Given the description of an element on the screen output the (x, y) to click on. 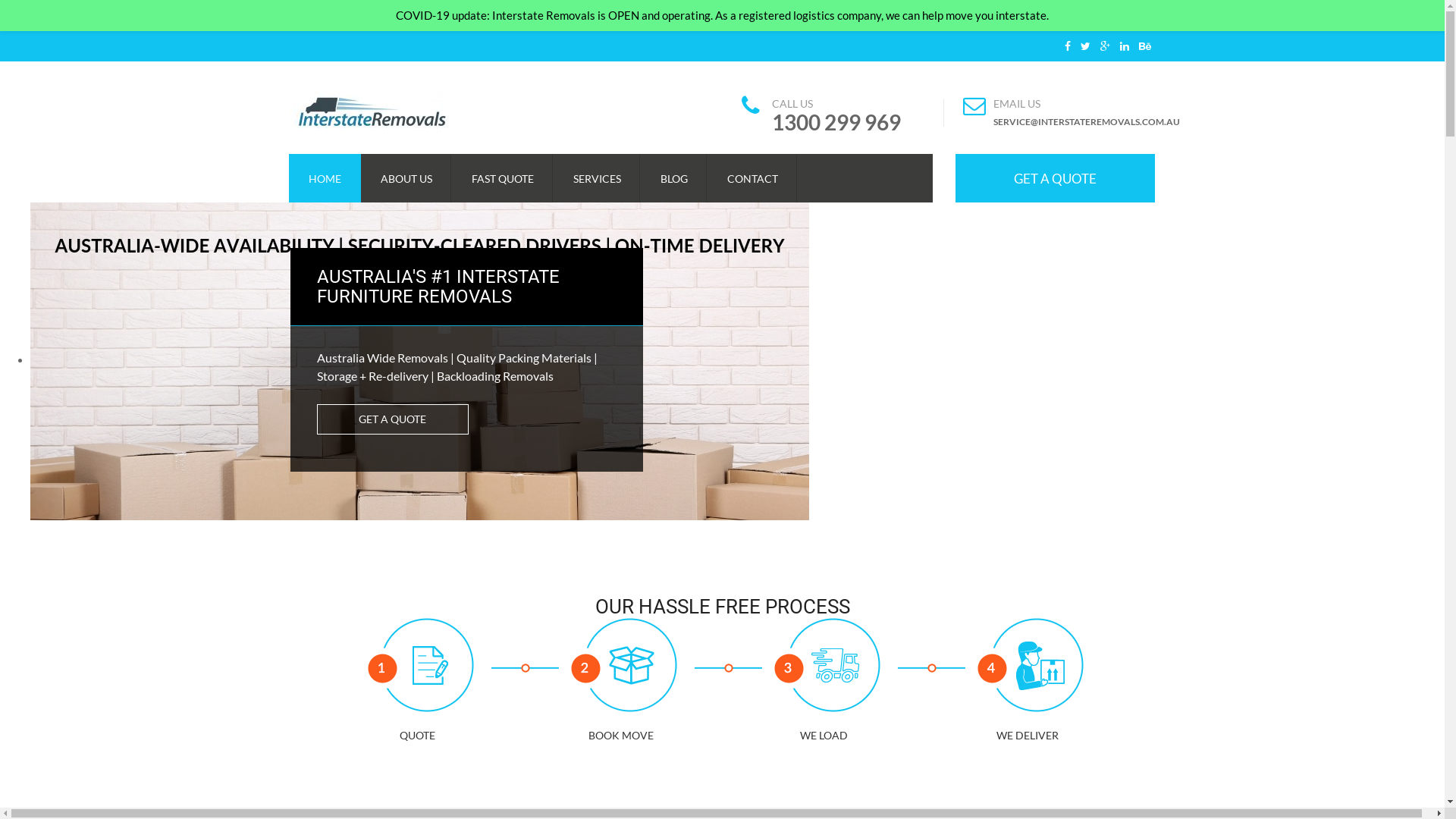
ABOUT US Element type: text (405, 177)
SERVICES Element type: text (596, 177)
CONTACT Element type: text (751, 177)
FAST QUOTE Element type: text (502, 177)
GET A QUOTE Element type: text (1054, 177)
HOME Element type: text (324, 177)
GET A QUOTE Element type: text (392, 419)
BLOG Element type: text (673, 177)
